Given the description of an element on the screen output the (x, y) to click on. 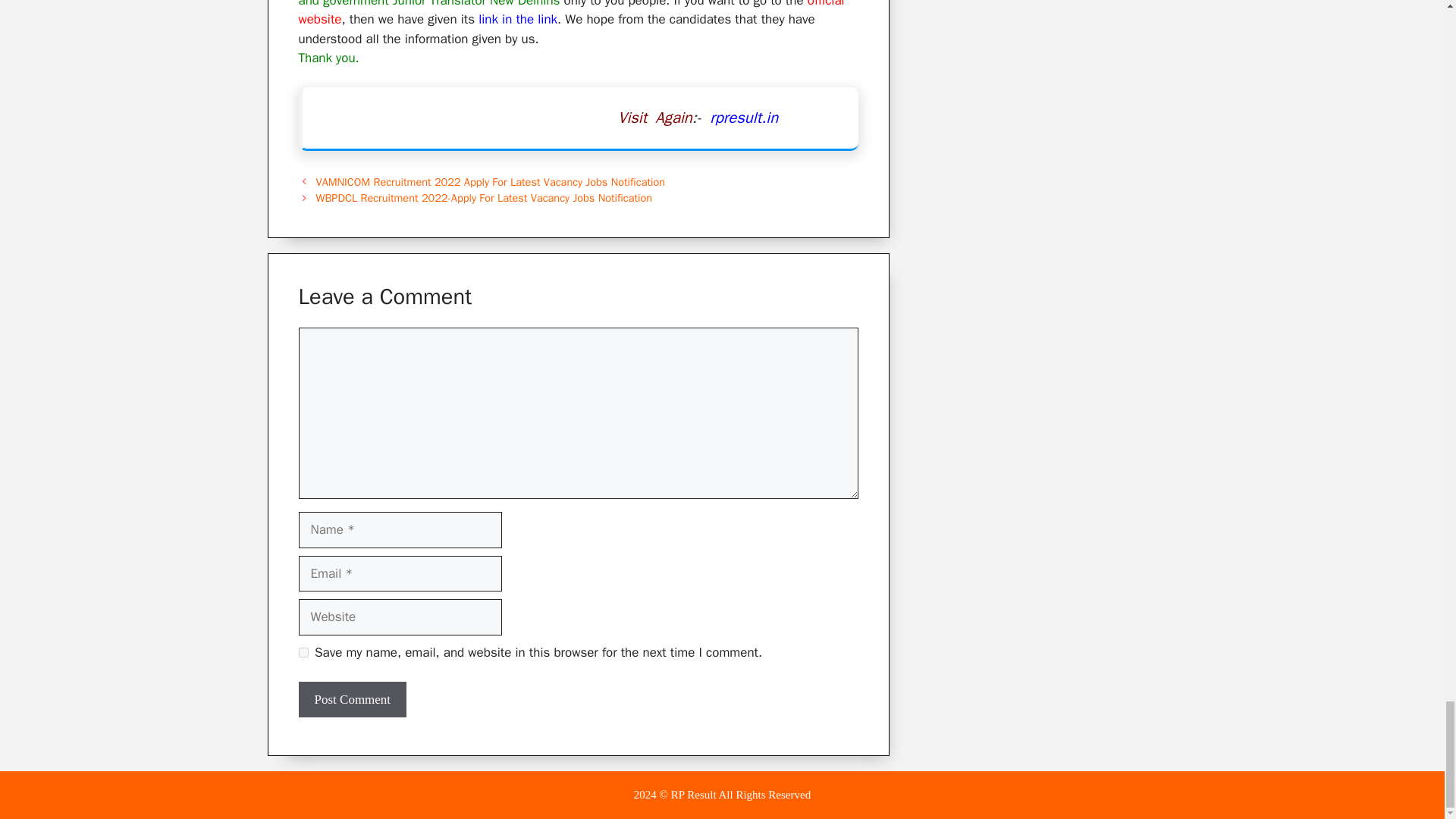
Post Comment (352, 699)
yes (303, 652)
Post Comment (352, 699)
Next (483, 197)
rpresult.in (743, 117)
Previous (490, 182)
